Given the description of an element on the screen output the (x, y) to click on. 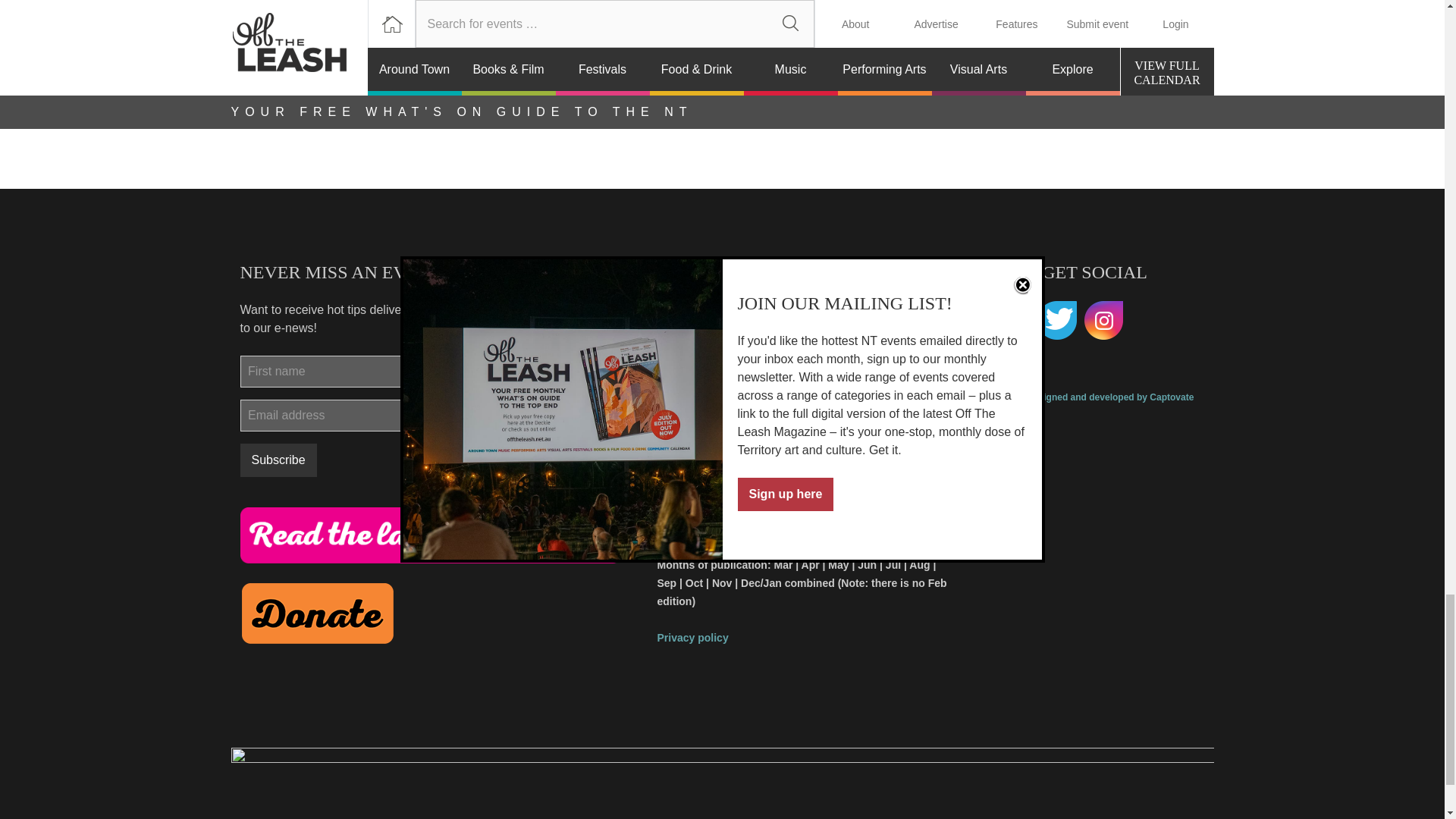
PayPal - The safer, easier way to pay online! (317, 613)
Privacy policy (692, 636)
MISSY Higgins (540, 19)
Like us on Facebook (1009, 320)
Subscribe (277, 459)
Follow us on Twitter (1056, 320)
Subscribe (277, 459)
